Given the description of an element on the screen output the (x, y) to click on. 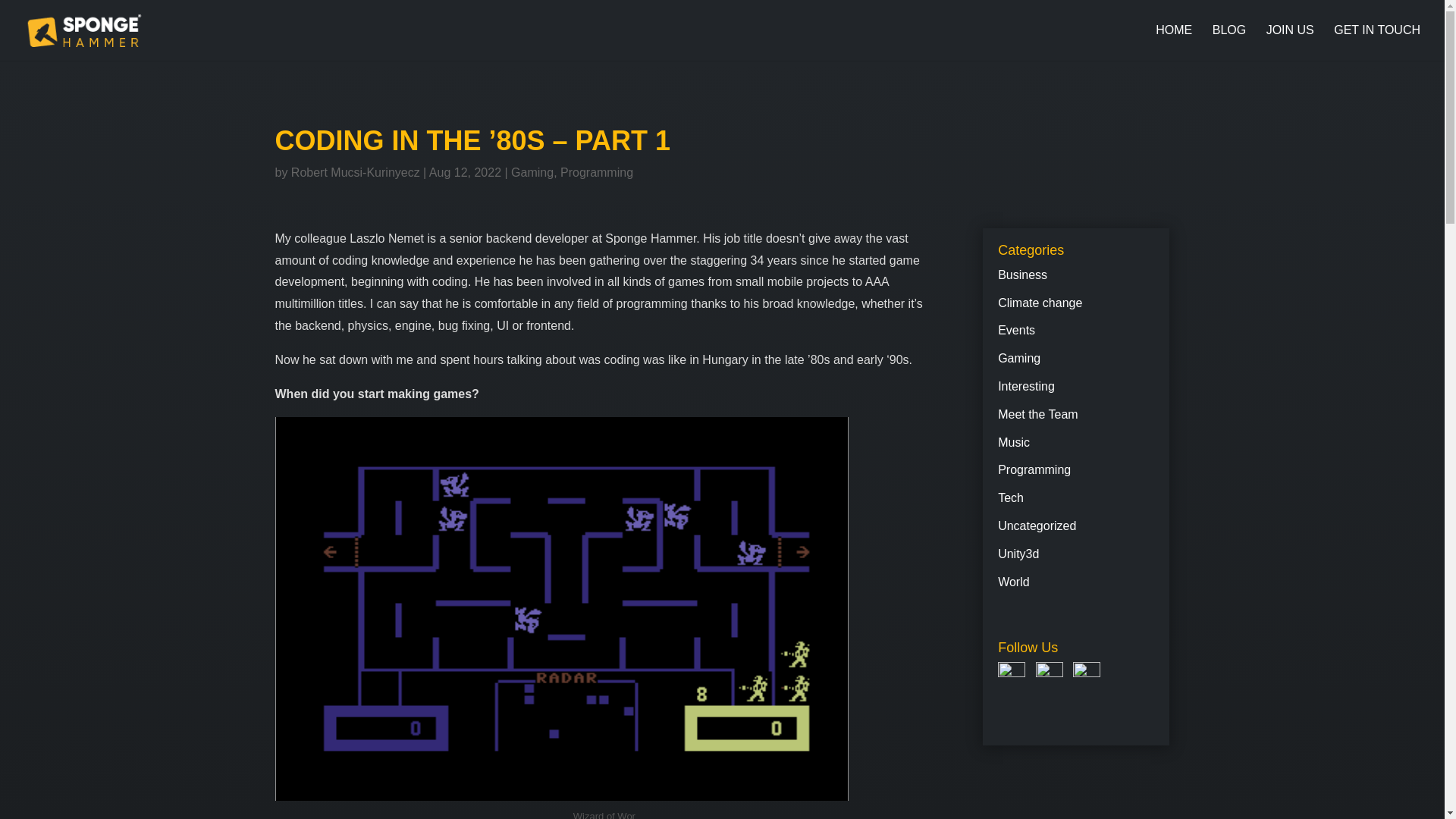
HOME (1174, 42)
Programming (1033, 469)
Tech (1010, 497)
Gaming (1019, 358)
Gaming (532, 172)
World (1013, 581)
Programming (596, 172)
BLOG (1229, 42)
Climate change (1039, 302)
Robert Mucsi-Kurinyecz (355, 172)
Meet the Team (1037, 413)
Music (1013, 441)
Interesting (1025, 386)
Events (1016, 329)
Business (1021, 274)
